Given the description of an element on the screen output the (x, y) to click on. 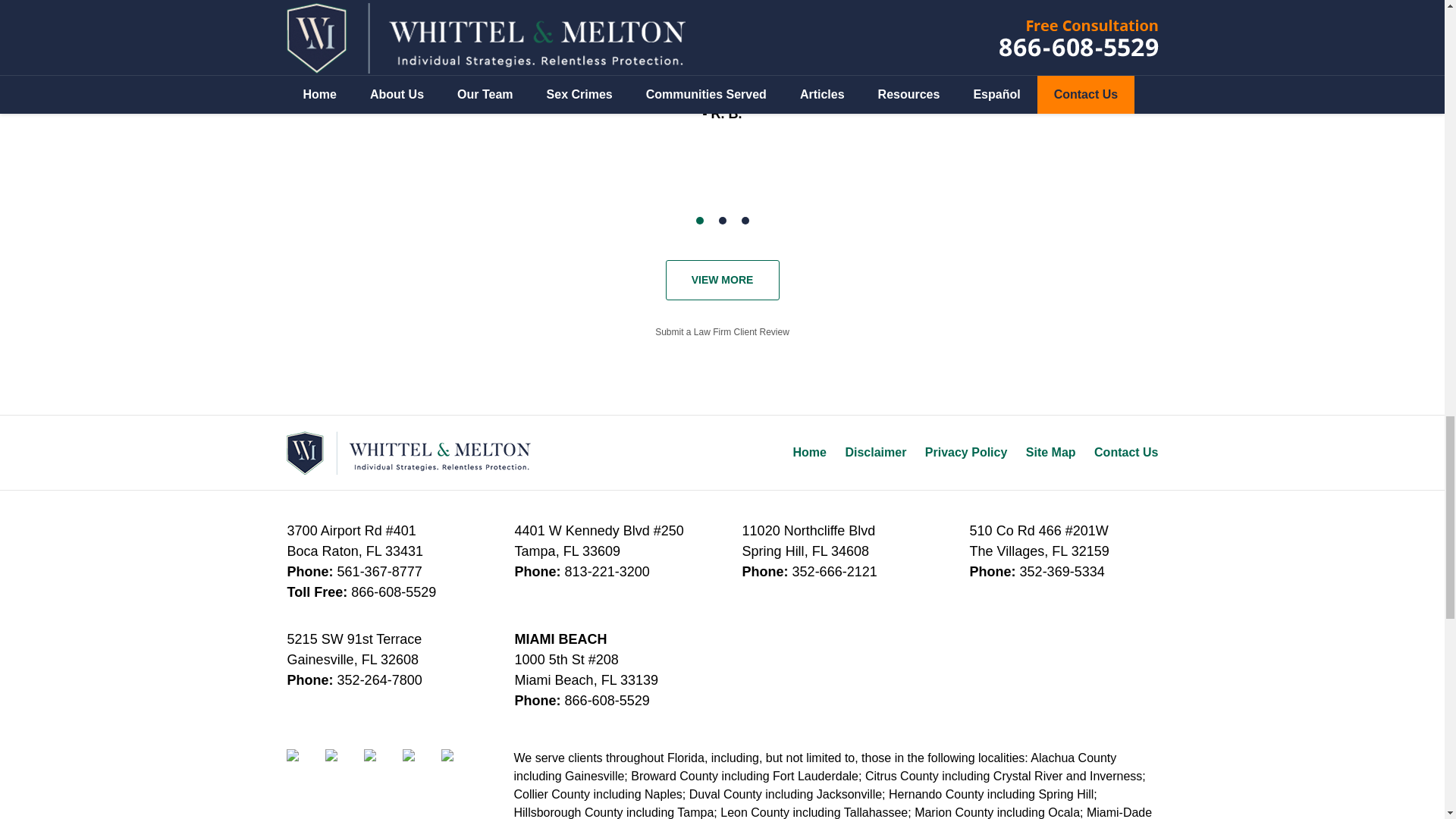
Twitter (341, 766)
Facebook (303, 766)
Instagram (458, 766)
Justia (418, 766)
LinkedIn (381, 766)
